Given the description of an element on the screen output the (x, y) to click on. 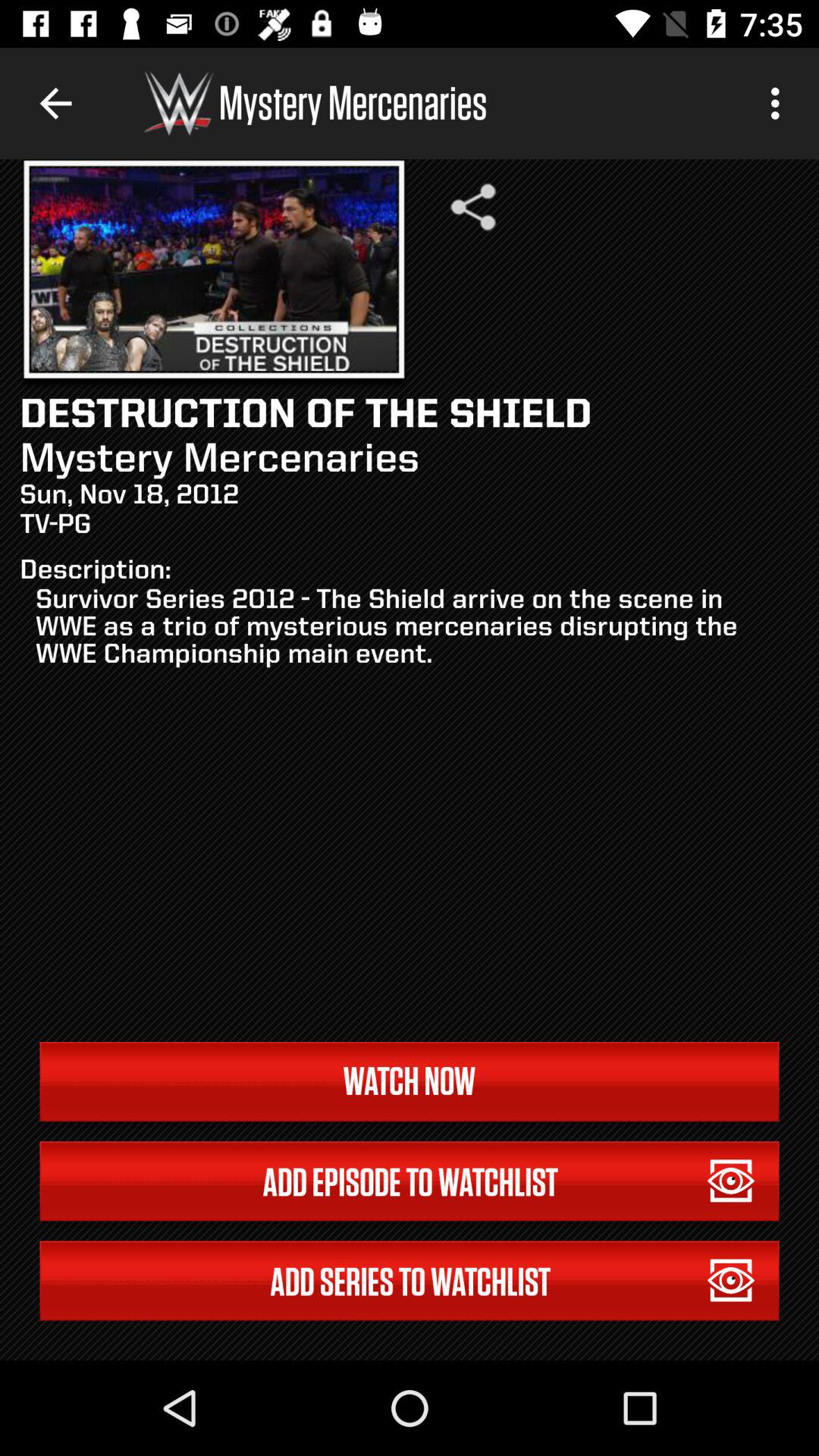
jump until watch now (409, 1081)
